Given the description of an element on the screen output the (x, y) to click on. 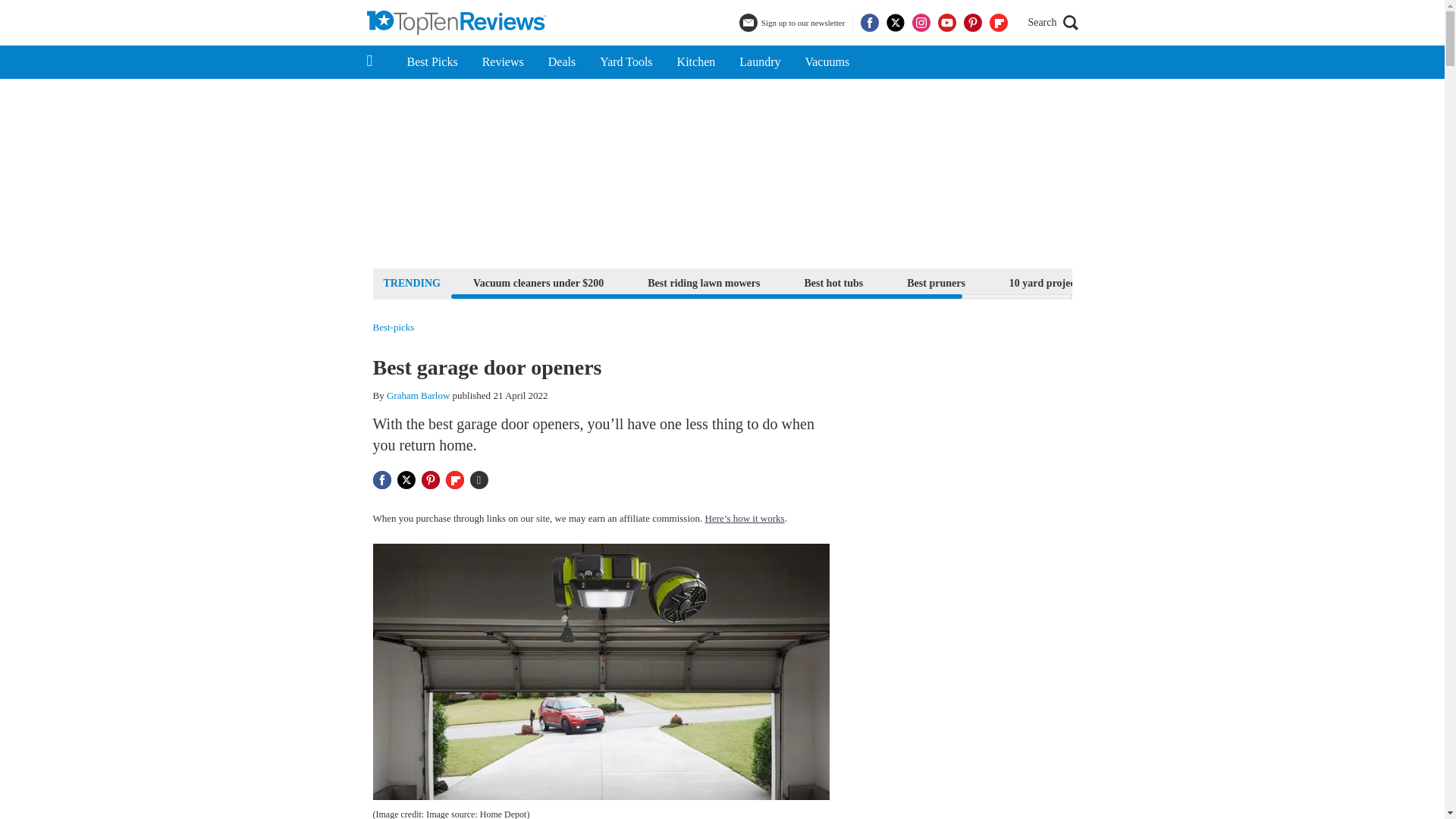
Yard Tools (625, 61)
Sign up to our newsletter (793, 22)
Vacuums (826, 61)
Best Picks (431, 61)
Reviews (502, 61)
Laundry (759, 61)
10 yard projects to complete in August (1096, 282)
Graham Barlow (418, 395)
Best-picks (393, 327)
Best riding lawn mowers (703, 282)
Deals (561, 61)
Kitchen (696, 61)
Best pruners (936, 282)
Best hot tubs (832, 282)
